Given the description of an element on the screen output the (x, y) to click on. 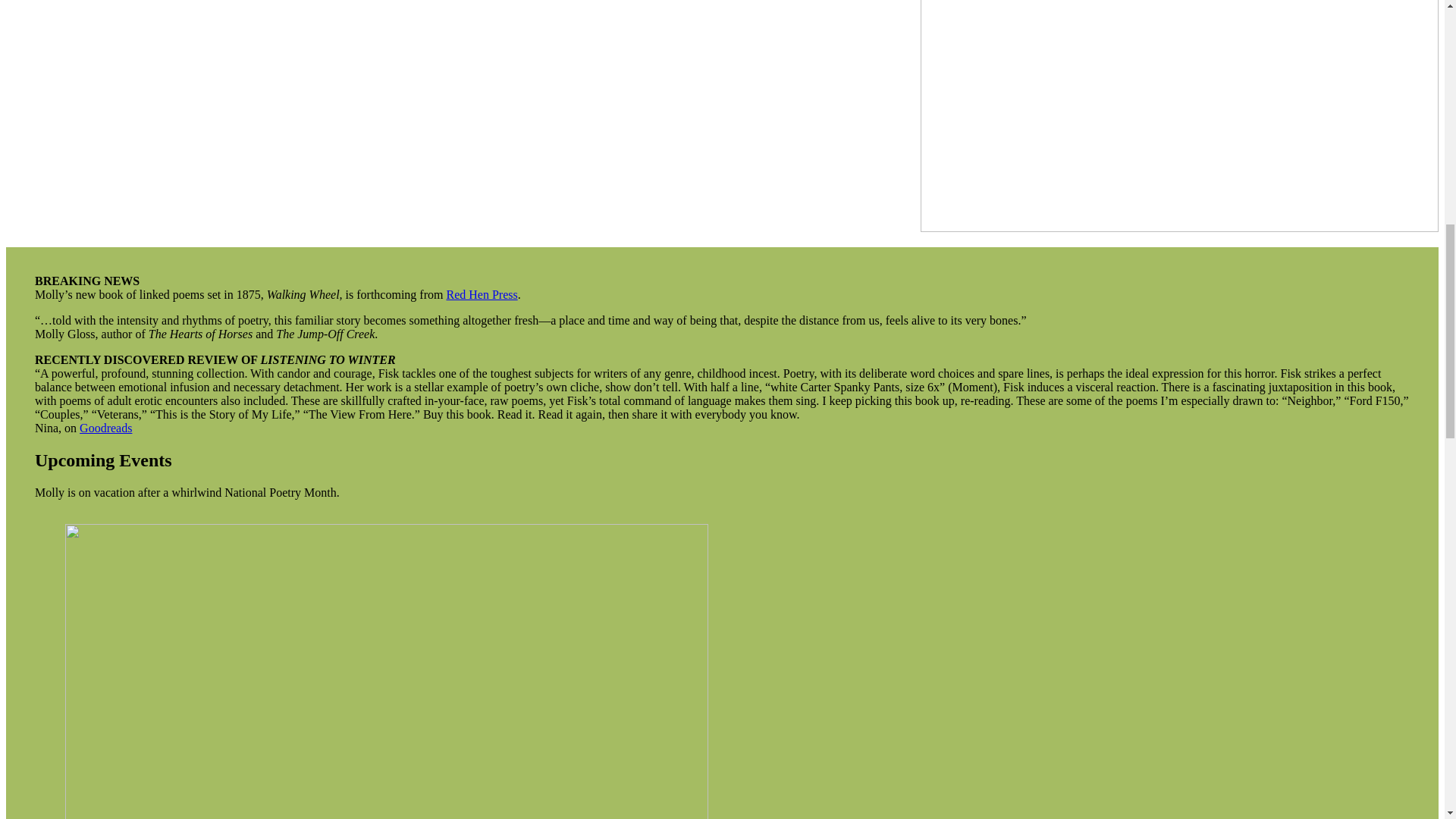
Goodreads (106, 427)
Red Hen Press (480, 294)
